Given the description of an element on the screen output the (x, y) to click on. 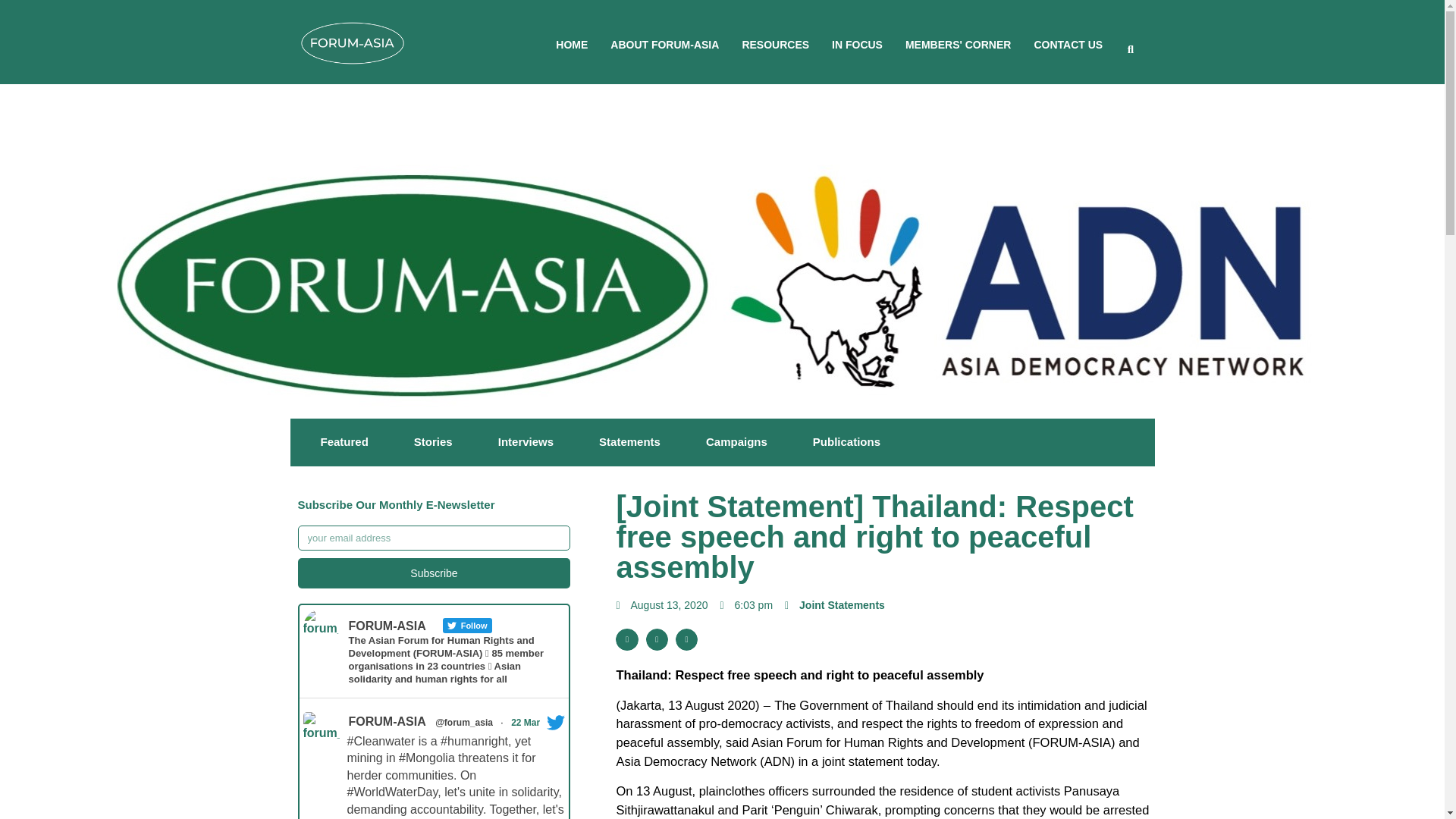
CONTACT US (1067, 44)
MEMBERS' CORNER (957, 44)
ABOUT FORUM-ASIA (664, 44)
RESOURCES (774, 44)
HOME (571, 44)
IN FOCUS (856, 44)
